Given the description of an element on the screen output the (x, y) to click on. 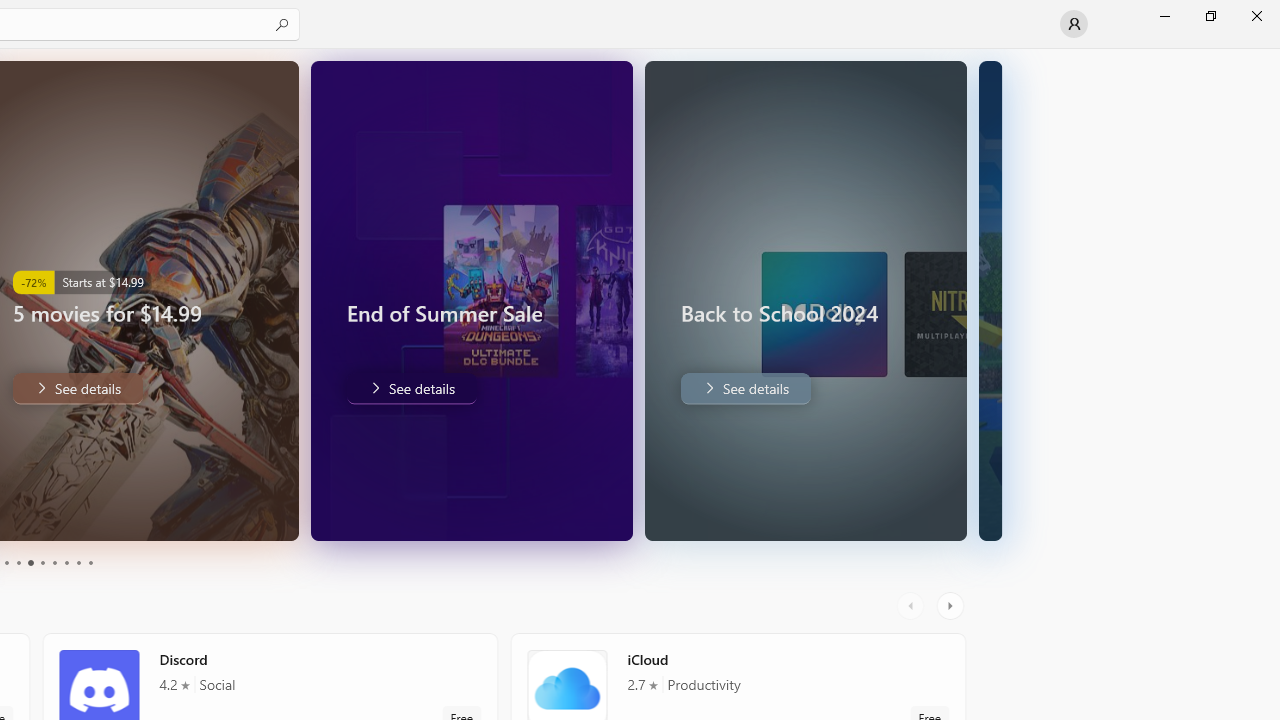
Page 9 (77, 562)
AutomationID: RightScrollButton (952, 606)
Page 5 (29, 562)
Page 4 (17, 562)
Page 10 (90, 562)
Page 7 (54, 562)
Page 8 (65, 562)
End of Summer Sale. Save up to 80%.  . See details (108, 387)
AutomationID: LeftScrollButton (913, 606)
Page 3 (5, 562)
